Given the description of an element on the screen output the (x, y) to click on. 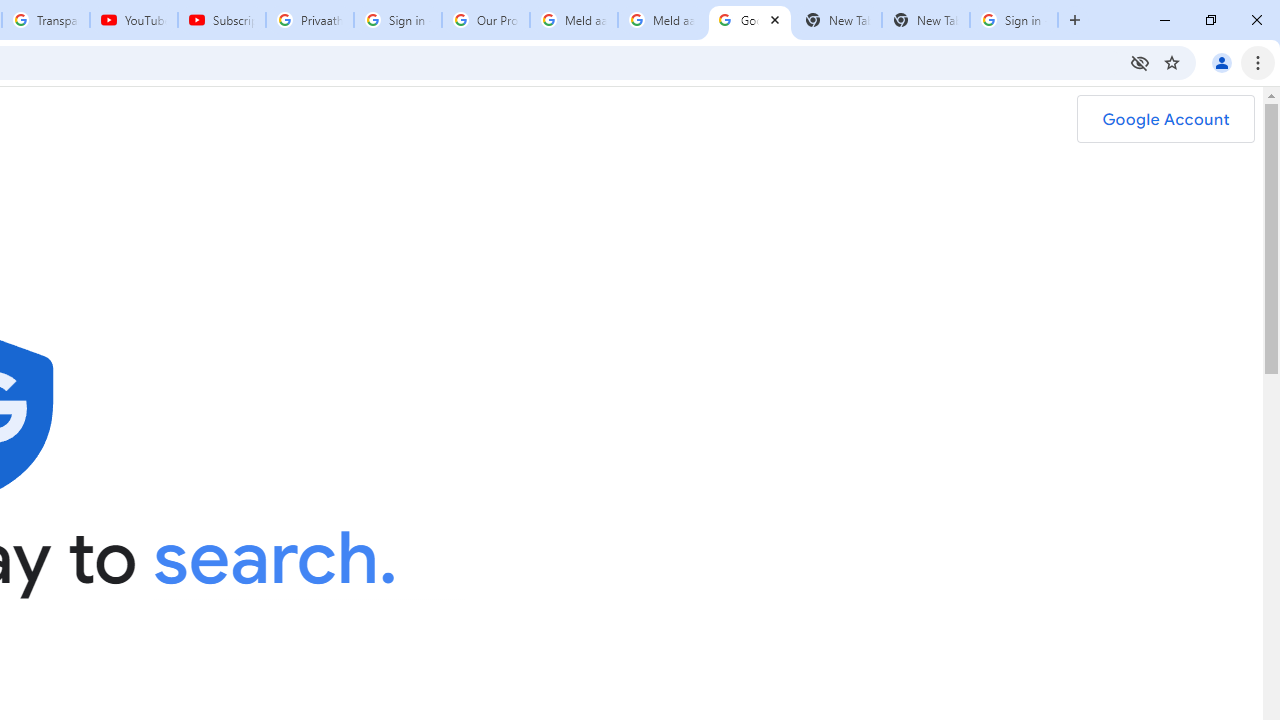
Subscriptions - YouTube (221, 20)
New Tab (925, 20)
Sign in - Google Accounts (397, 20)
Sign in - Google Accounts (1014, 20)
